Given the description of an element on the screen output the (x, y) to click on. 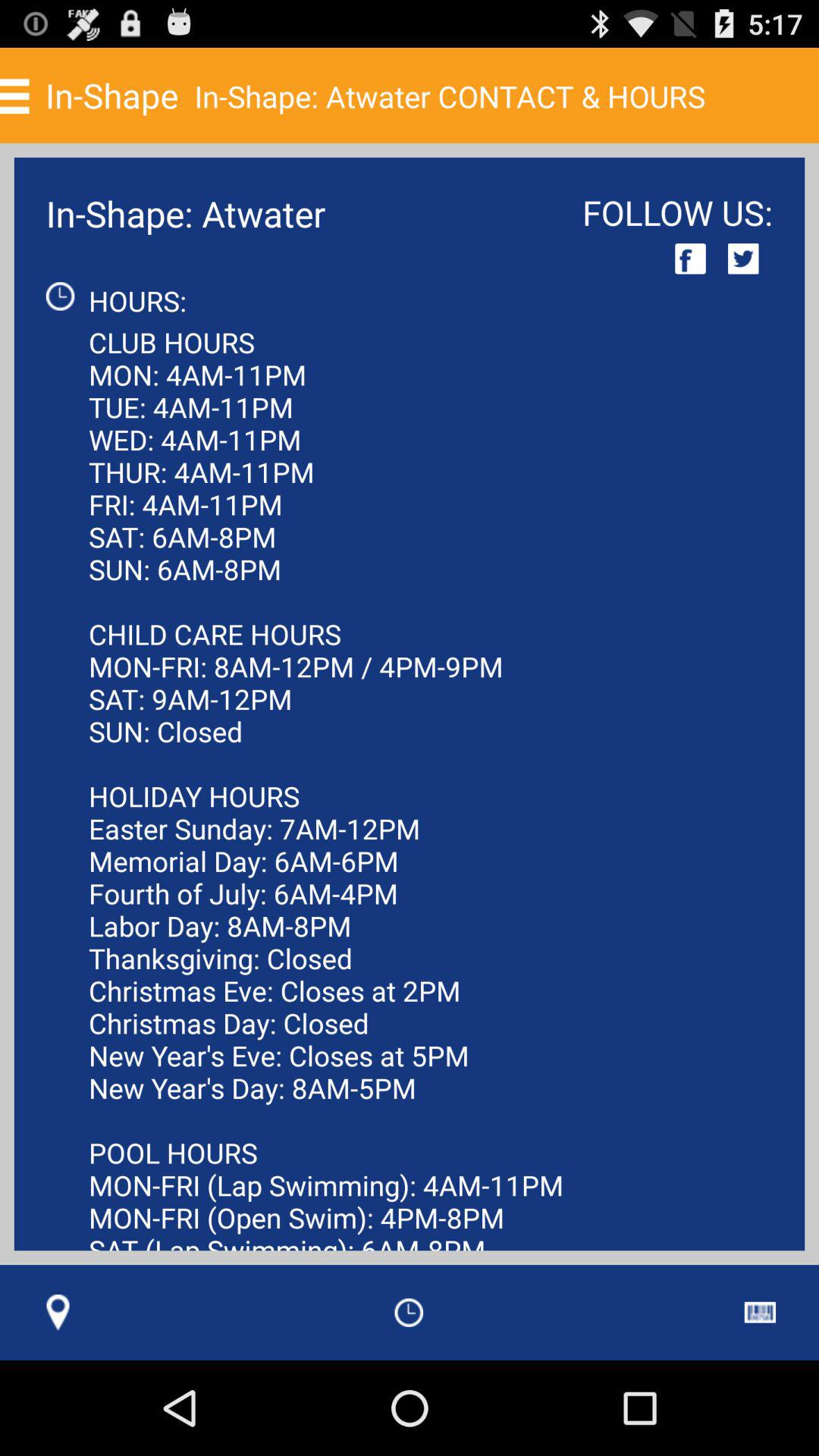
turn on the item below the follow us: item (690, 258)
